Given the description of an element on the screen output the (x, y) to click on. 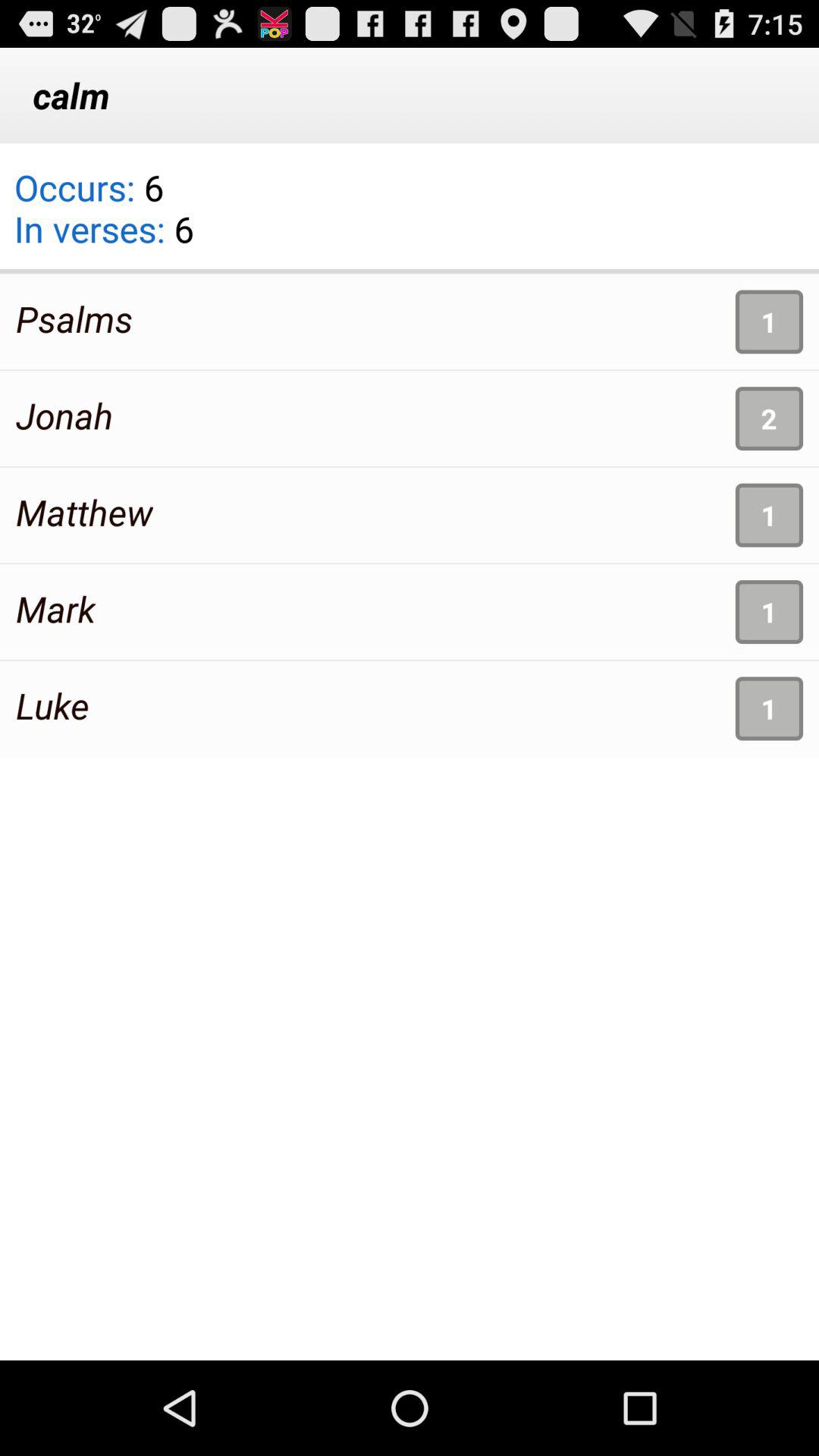
press the luke (52, 705)
